Given the description of an element on the screen output the (x, y) to click on. 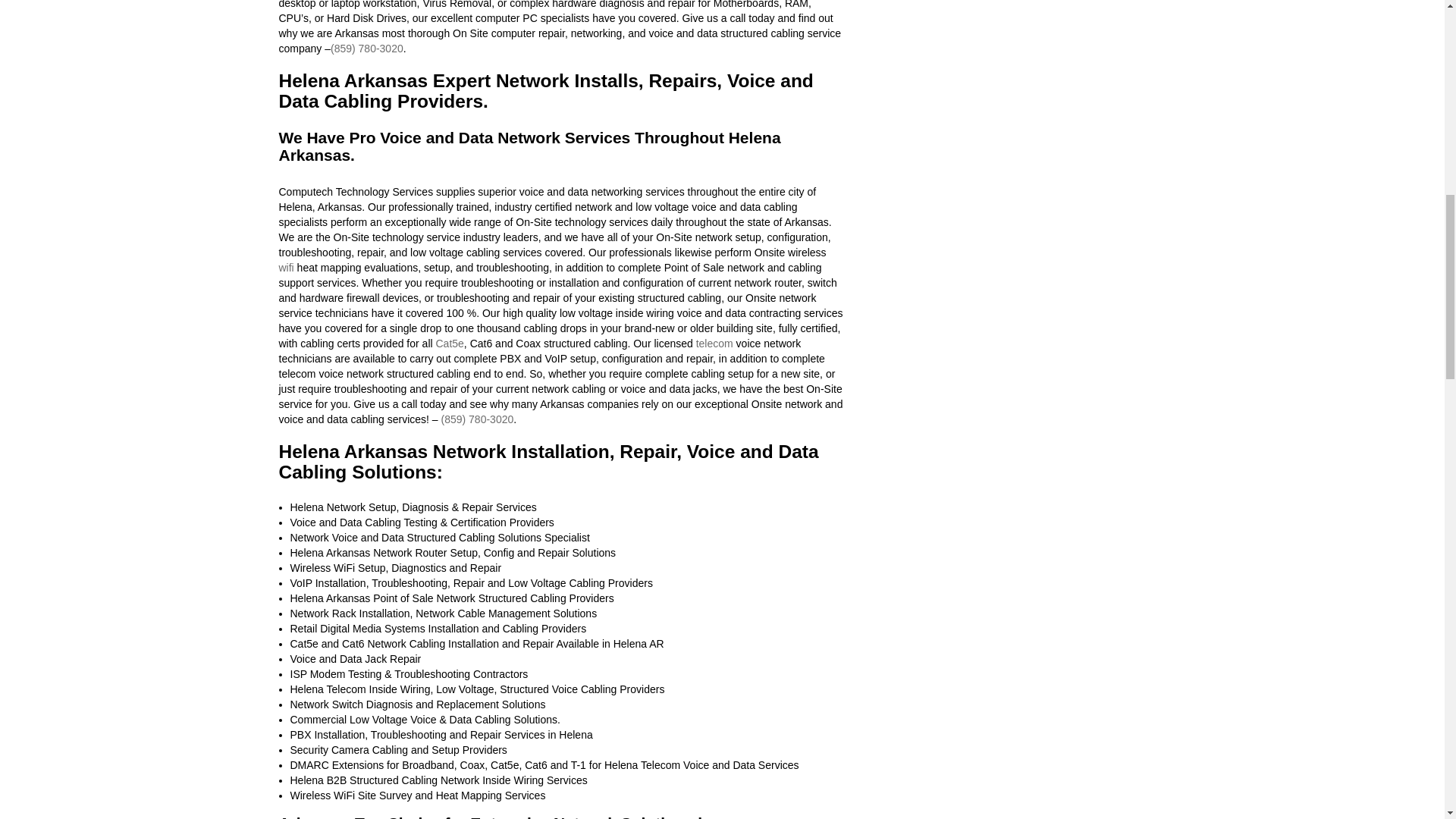
telecom (714, 343)
wifi (286, 267)
Cat5e (449, 343)
